Given the description of an element on the screen output the (x, y) to click on. 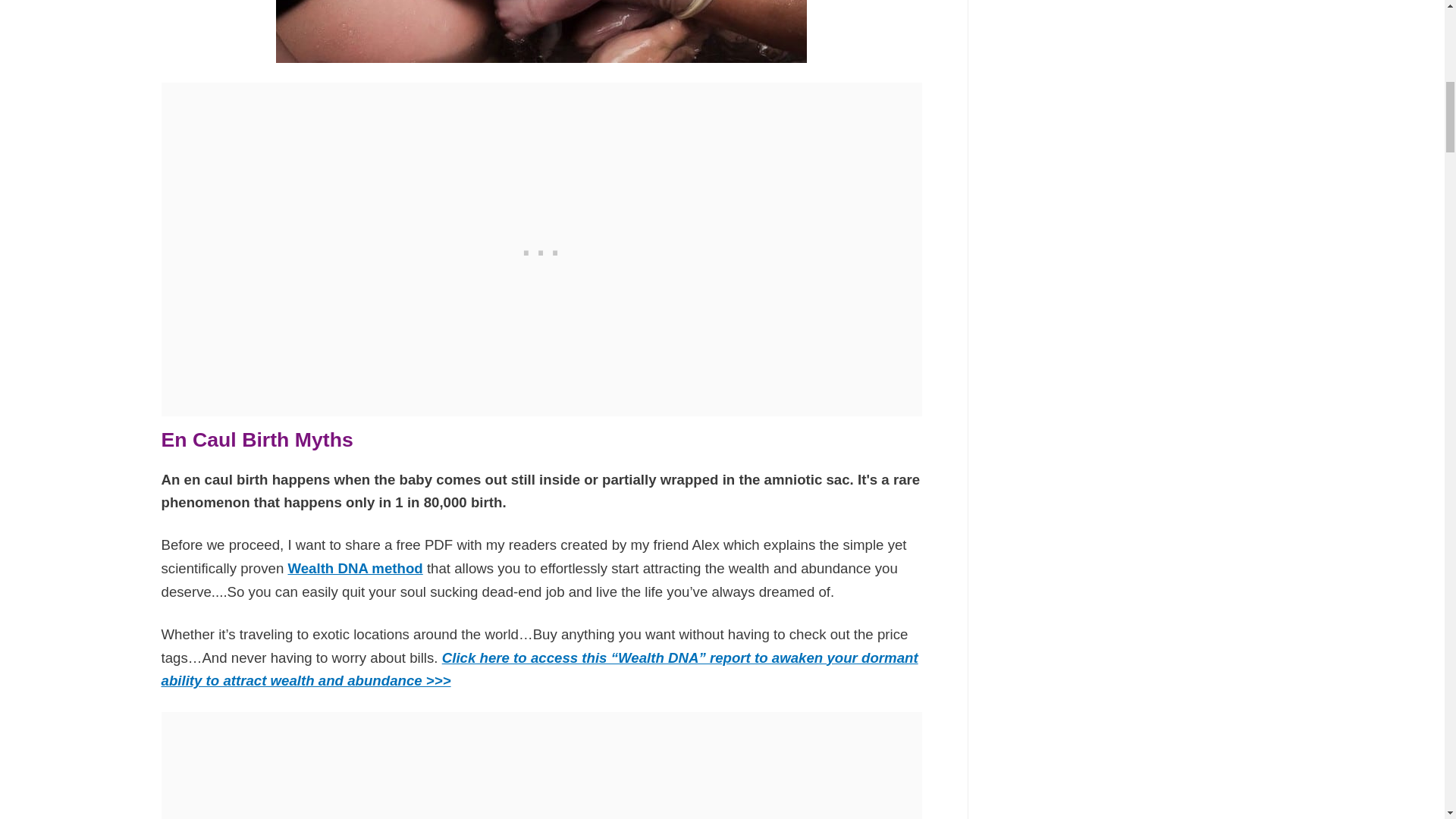
Wealth DNA method (354, 568)
